Given the description of an element on the screen output the (x, y) to click on. 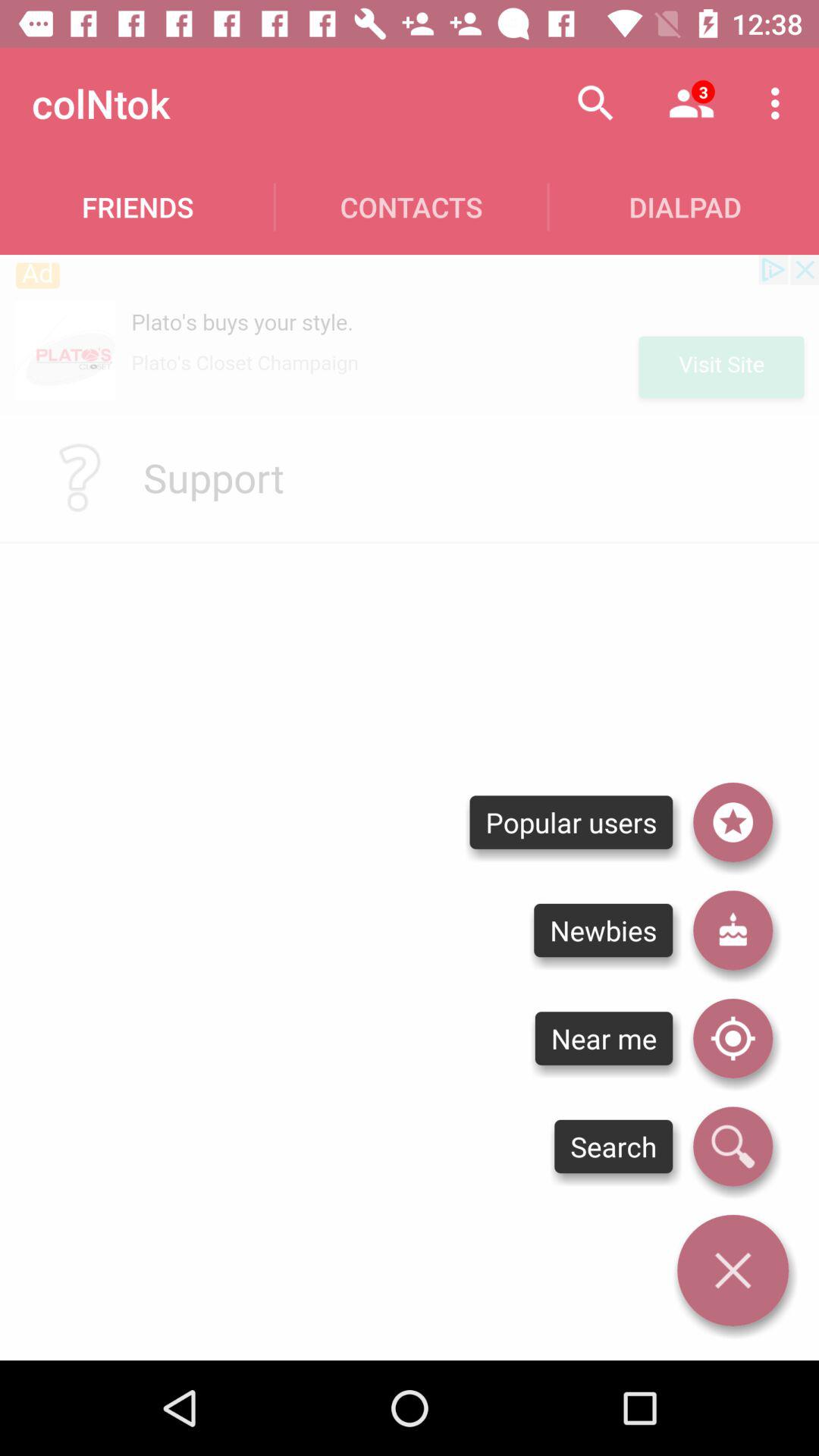
launch the popular users icon (571, 822)
